Given the description of an element on the screen output the (x, y) to click on. 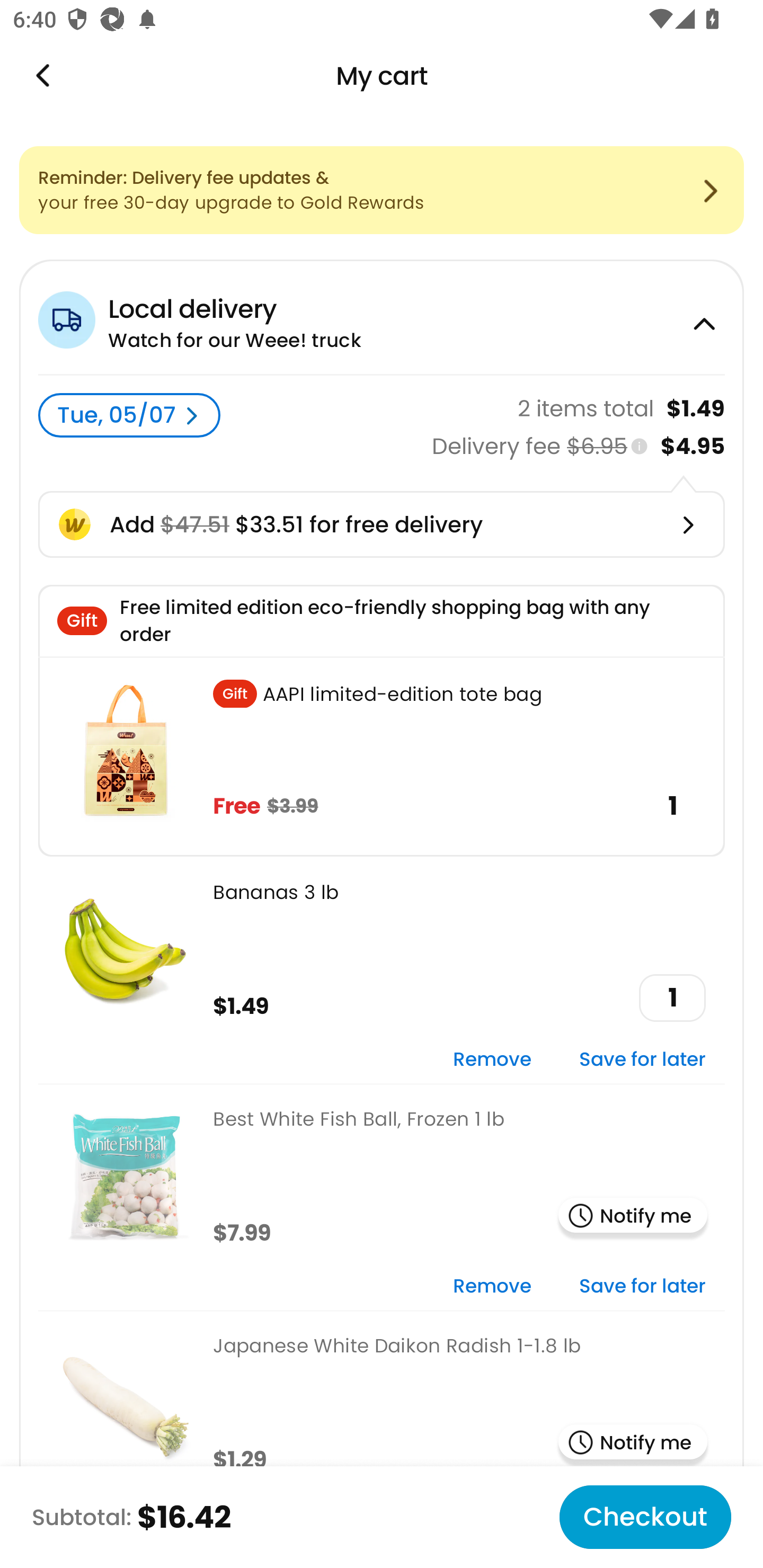
Local delivery Watch for our Weee! truck (381, 317)
Tue, 05/07 (129, 415)
Add $47.51 $33.51 for free delivery (381, 524)
. AAPI limited-edition tote bag Free $3.99 1 (381, 756)
Bananas 3 lb $1.49 1 Remove Save for later (381, 969)
1 (672, 997)
Remove (491, 1060)
Save for later (642, 1060)
Notify me (632, 1217)
Remove (491, 1286)
Save for later (642, 1286)
Notify me (632, 1444)
Checkout (644, 1516)
